Given the description of an element on the screen output the (x, y) to click on. 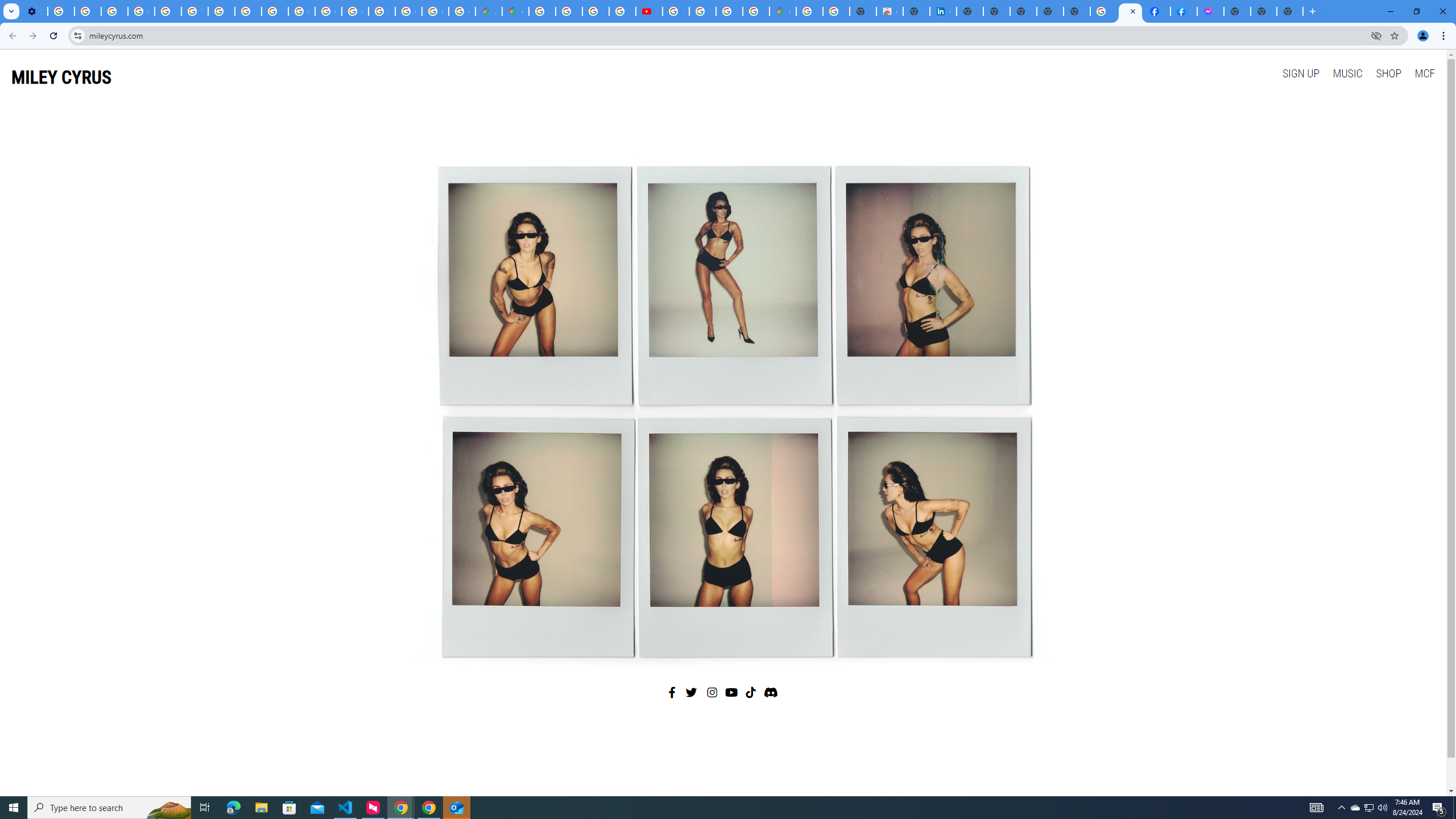
Instagram (712, 692)
Settings - Customize profile (34, 11)
New Tab (1289, 11)
Subscriptions - YouTube (649, 11)
